Given the description of an element on the screen output the (x, y) to click on. 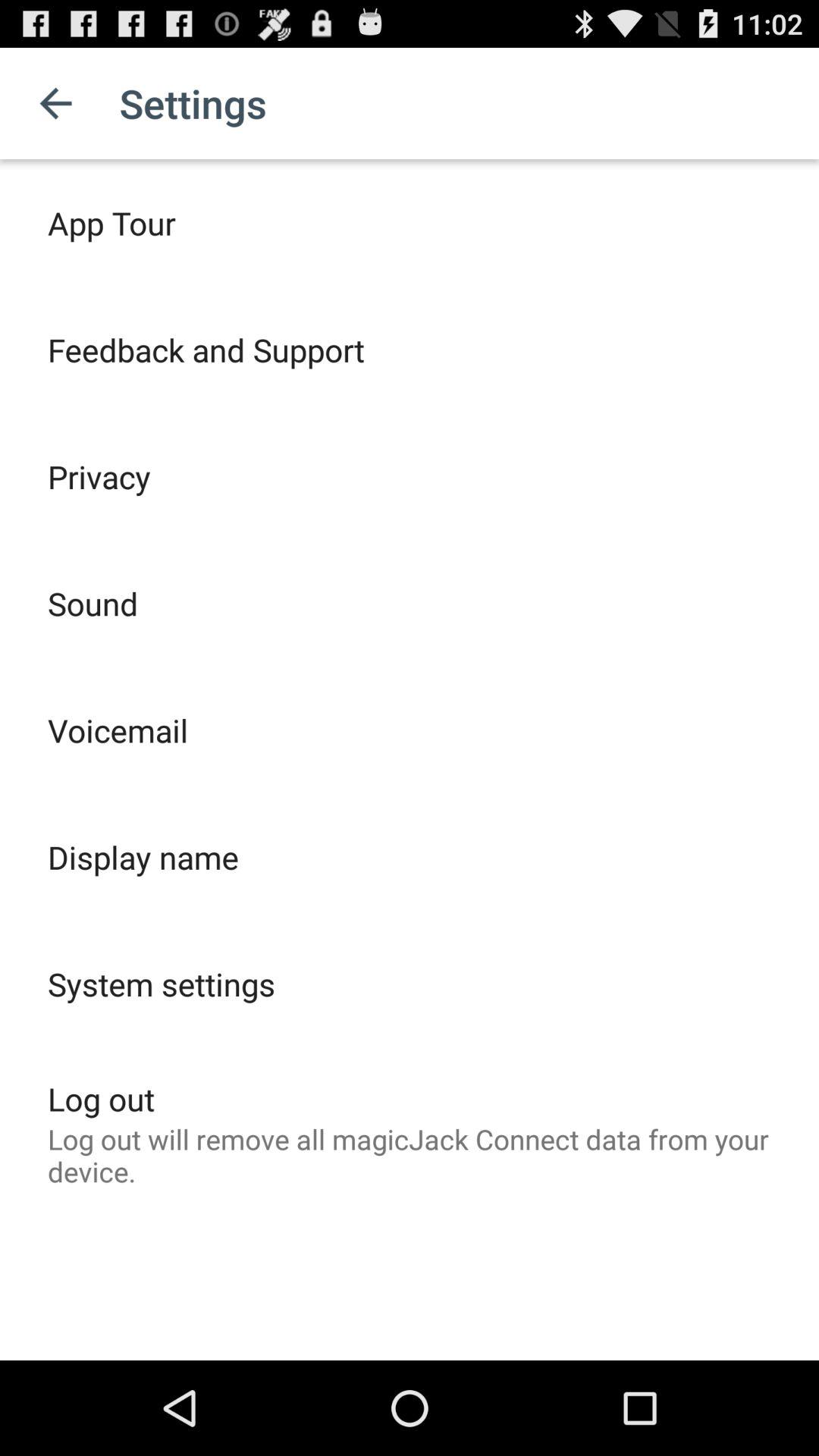
turn on item above system settings icon (142, 856)
